Given the description of an element on the screen output the (x, y) to click on. 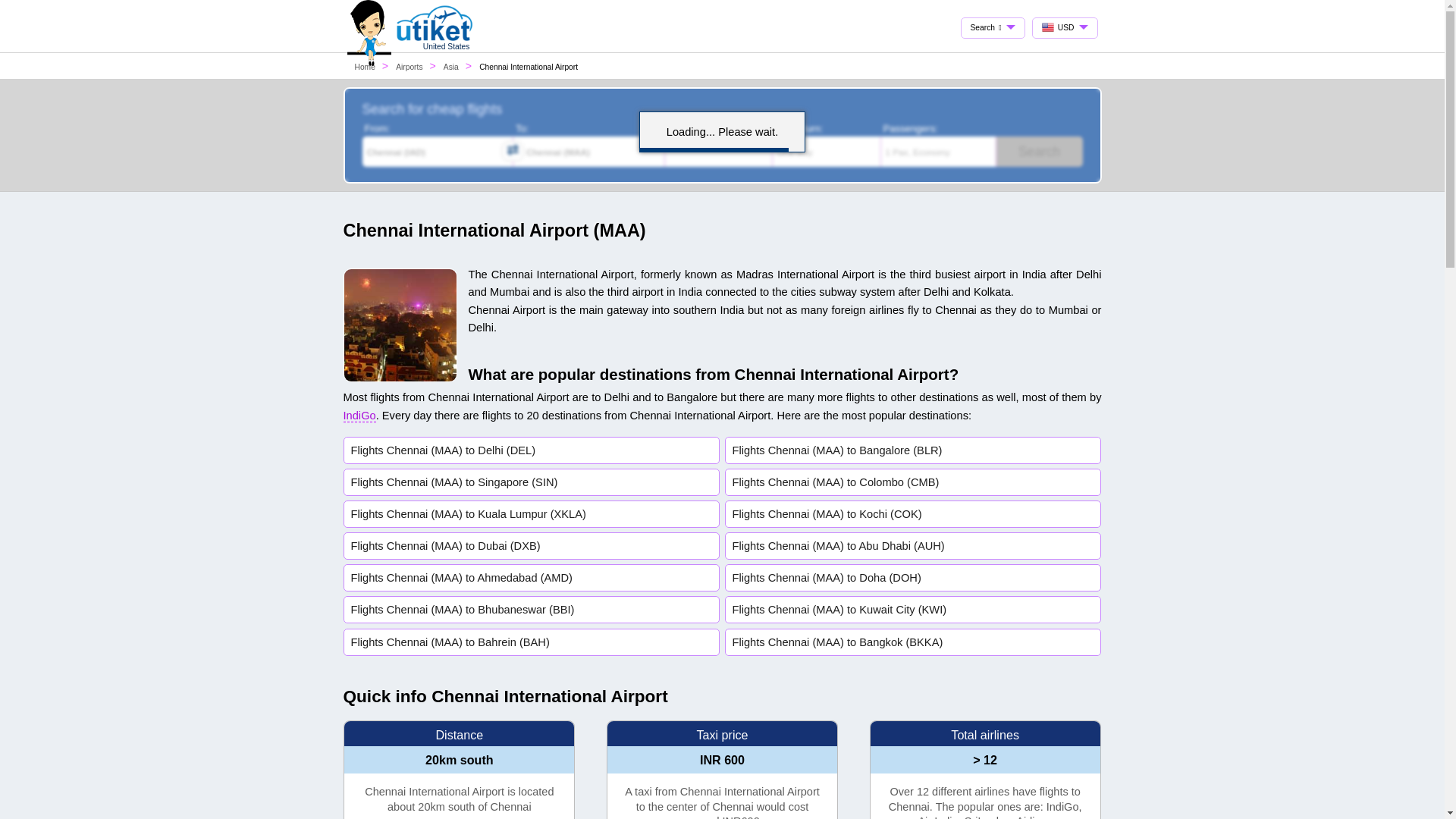
Home (365, 67)
Airports (409, 67)
United States (435, 46)
One-way (826, 151)
Asia (451, 67)
1 Pax, Economy (937, 151)
return (780, 126)
Search (1039, 151)
IndiGo (358, 415)
